Given the description of an element on the screen output the (x, y) to click on. 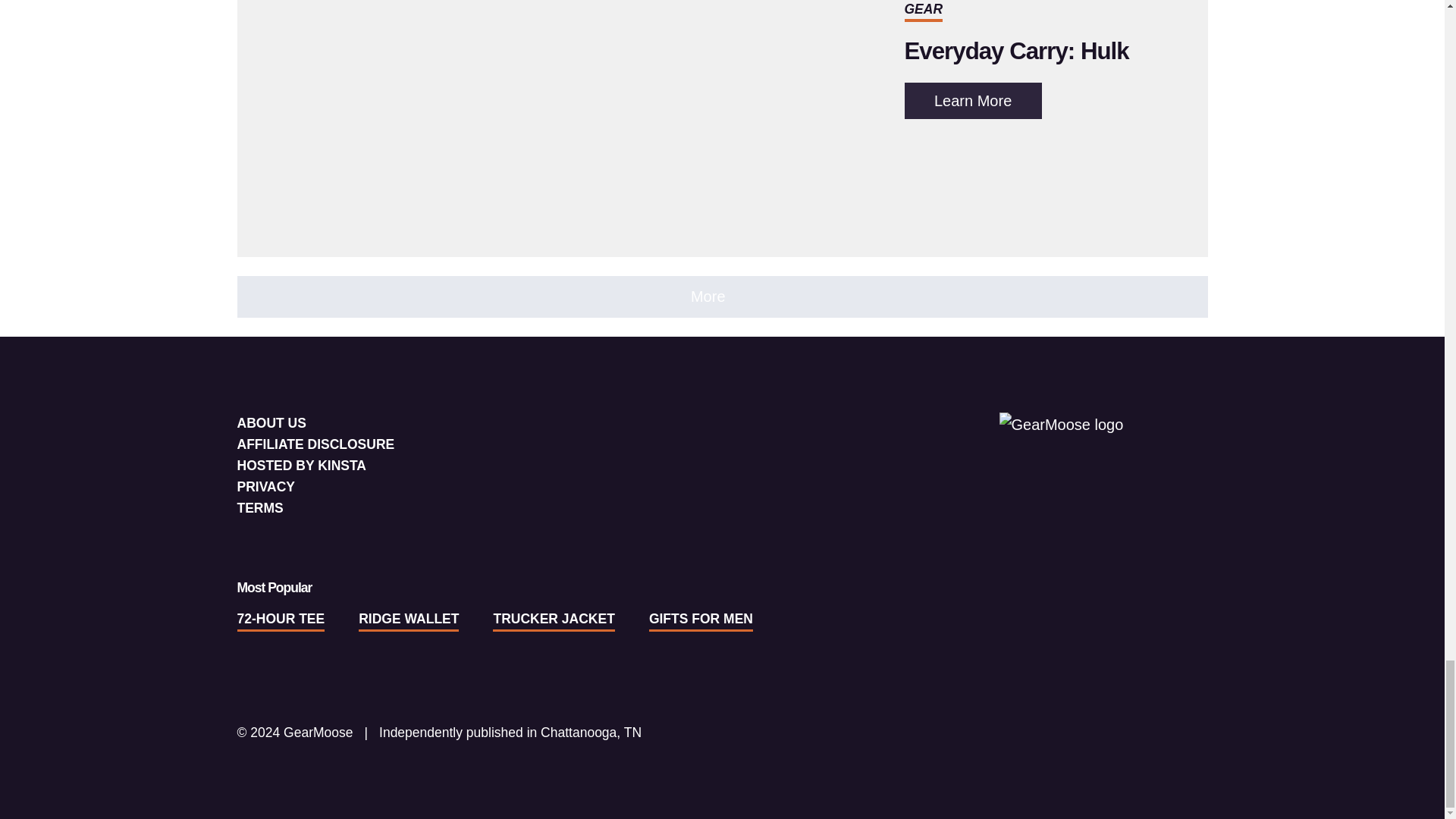
More (721, 297)
GEAR (923, 8)
Everyday Carry: Hulk (1016, 50)
